Given the description of an element on the screen output the (x, y) to click on. 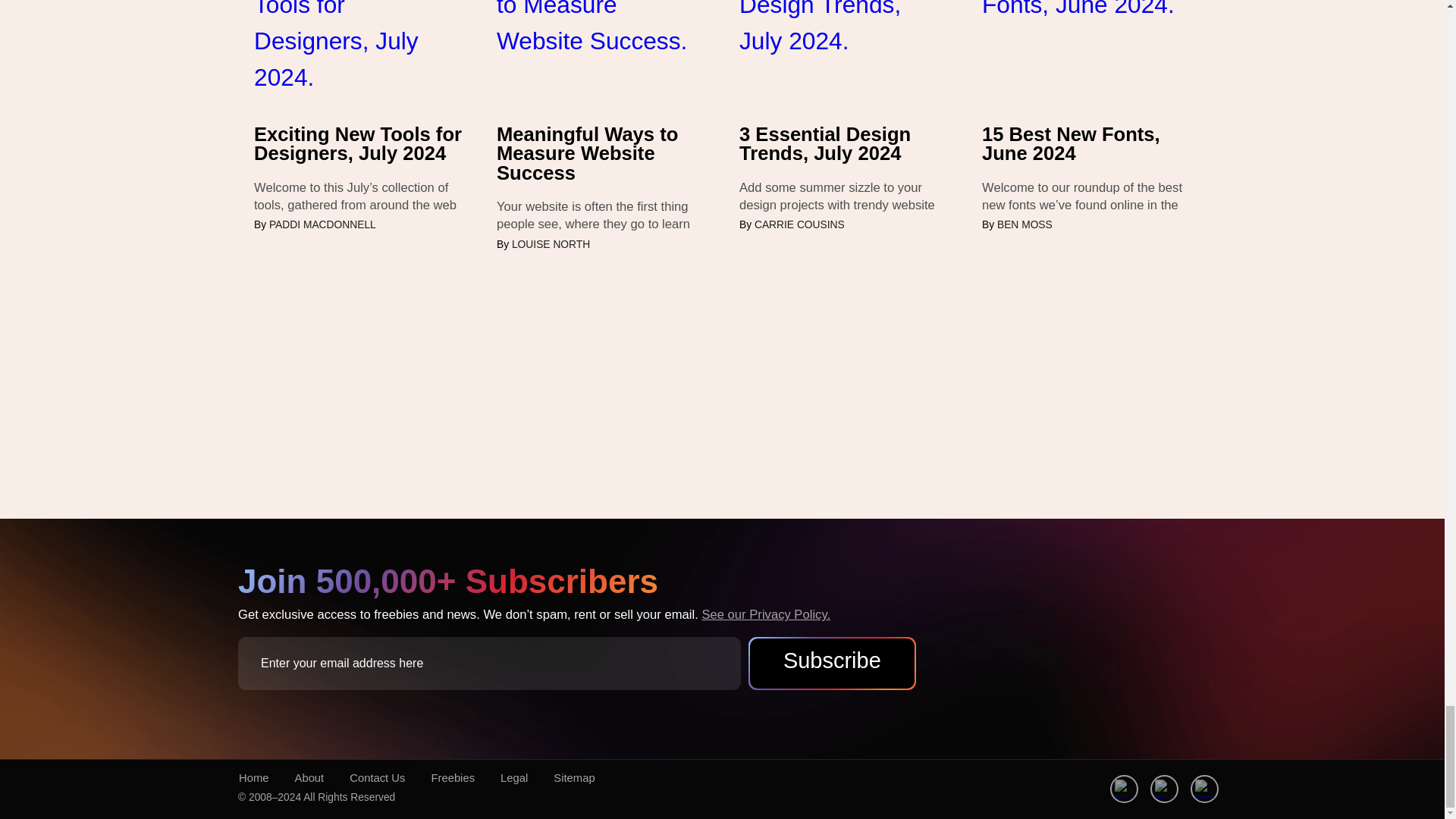
Subscribe (831, 661)
